Given the description of an element on the screen output the (x, y) to click on. 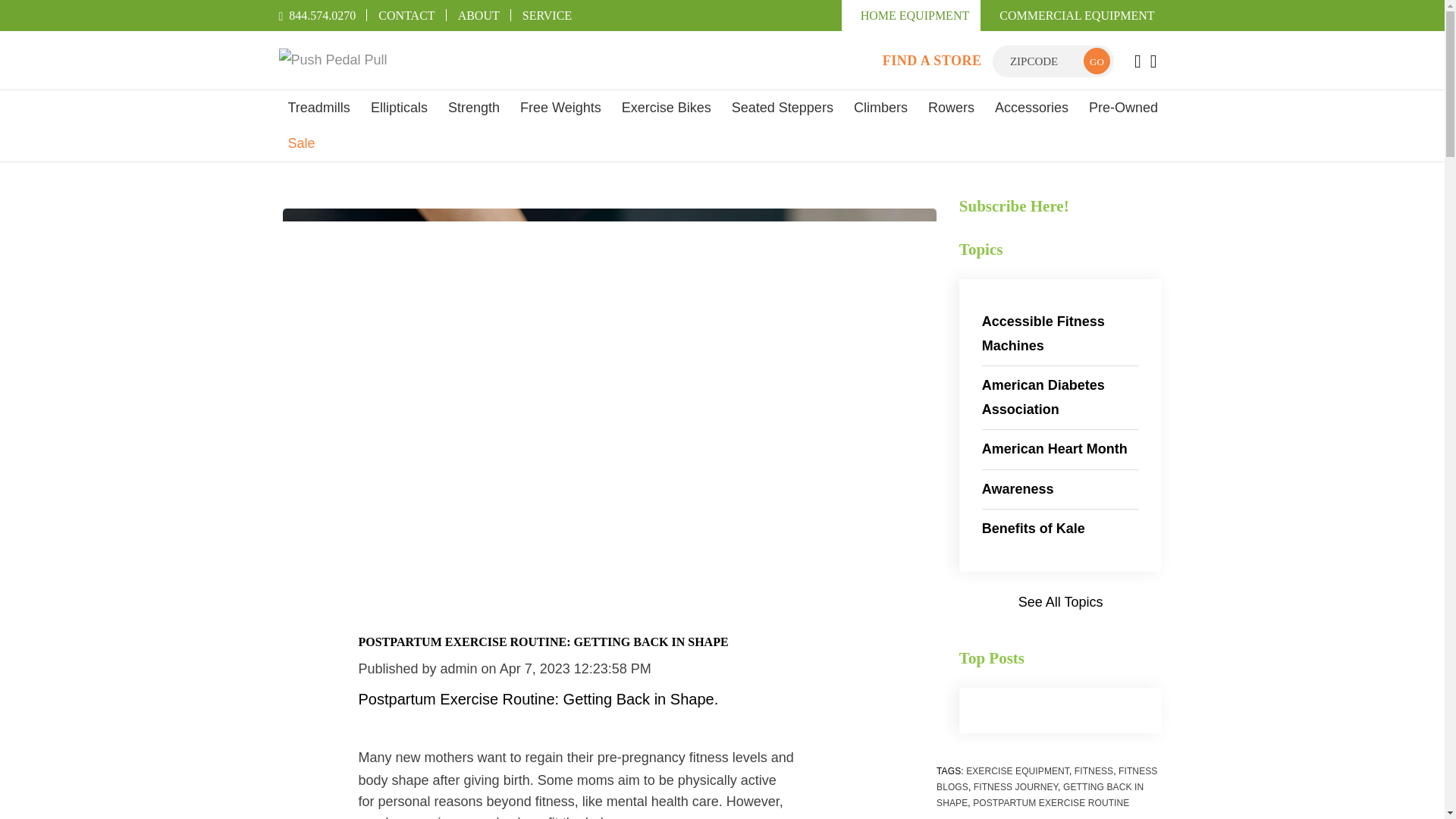
Climbers (880, 108)
ABOUT (478, 15)
GO (1096, 60)
Sale (301, 143)
SERVICE (547, 15)
Seated Steppers (782, 108)
Strength (473, 108)
Push Pedal Pull (401, 60)
Treadmills (319, 108)
Free Weights (560, 108)
Ellipticals (398, 108)
COMMERCIAL EQUIPMENT (1072, 15)
844.574.0270 (317, 15)
Accessories (1031, 108)
FIND A STORE (931, 60)
